Given the description of an element on the screen output the (x, y) to click on. 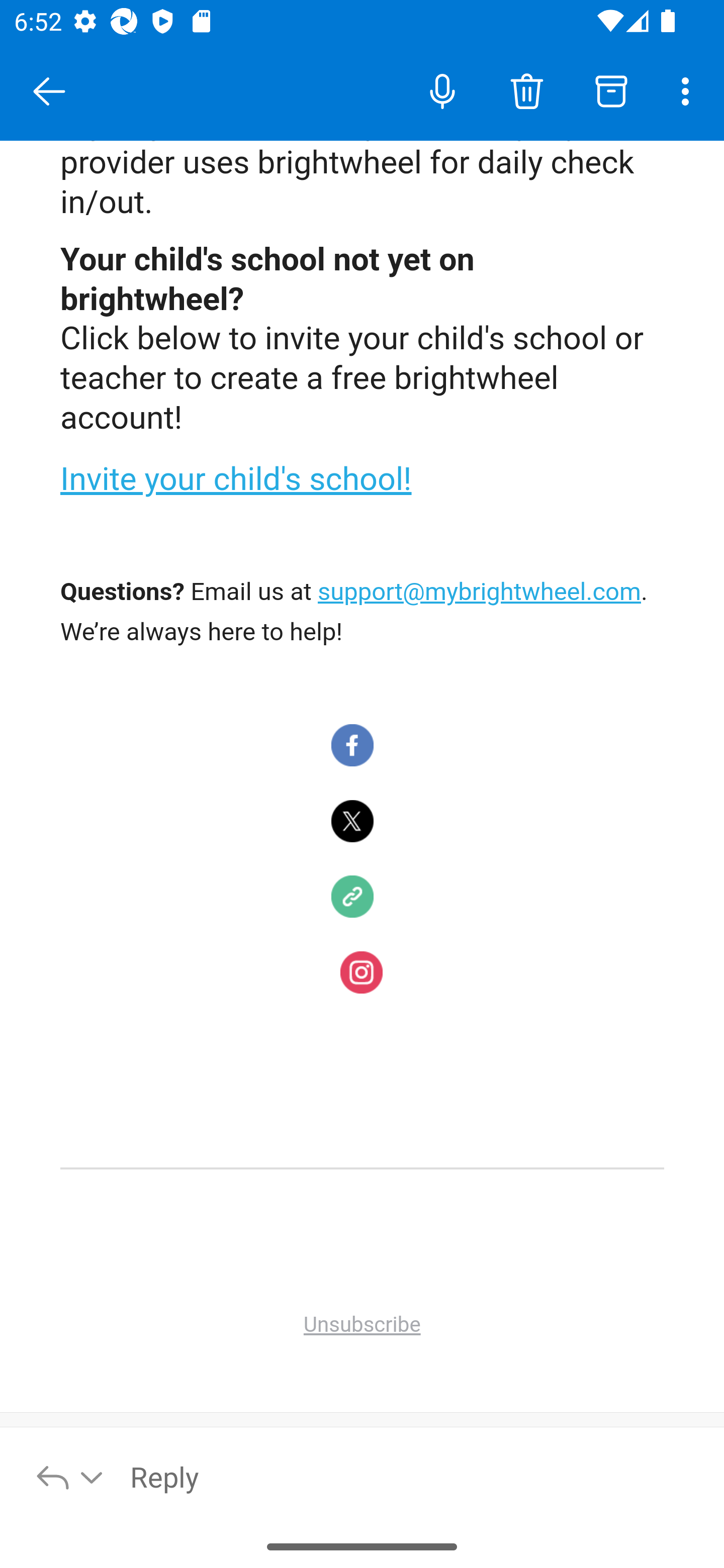
Close (49, 91)
Delete (526, 90)
Archive (611, 90)
More options (688, 90)
Invite your child's school! (235, 481)
support@mybrightwheel.com (479, 593)
image (353, 746)
image (353, 822)
image (353, 897)
image (361, 973)
Unsubscribe (361, 1326)
Reply options (70, 1475)
Reply (416, 1475)
